Given the description of an element on the screen output the (x, y) to click on. 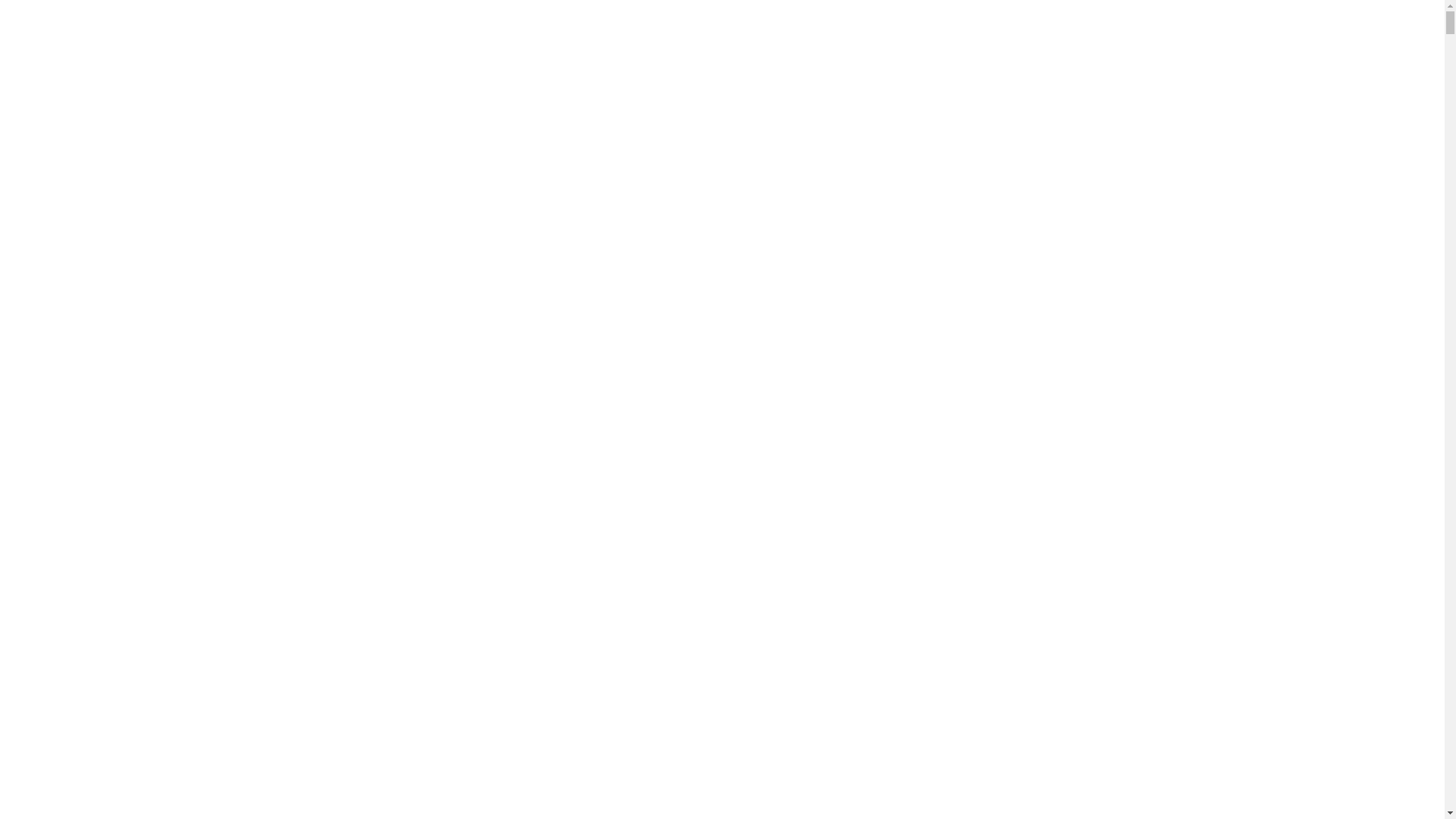
Hojo Element type: text (48, 549)
Training Element type: text (57, 467)
Erwachsenentraining Element type: text (117, 481)
Akzeptieren Element type: text (82, 25)
WEBSHOP Element type: text (65, 604)
Ablehnen Element type: text (29, 25)
Galerie Element type: text (54, 590)
Aikido-Club Aarau Element type: text (442, 414)
Aikido Element type: text (52, 454)
Kontakt Element type: text (55, 577)
Verein Element type: text (52, 563)
Events Element type: text (52, 508)
Mehr Infos Element type: text (543, 12)
